Given the description of an element on the screen output the (x, y) to click on. 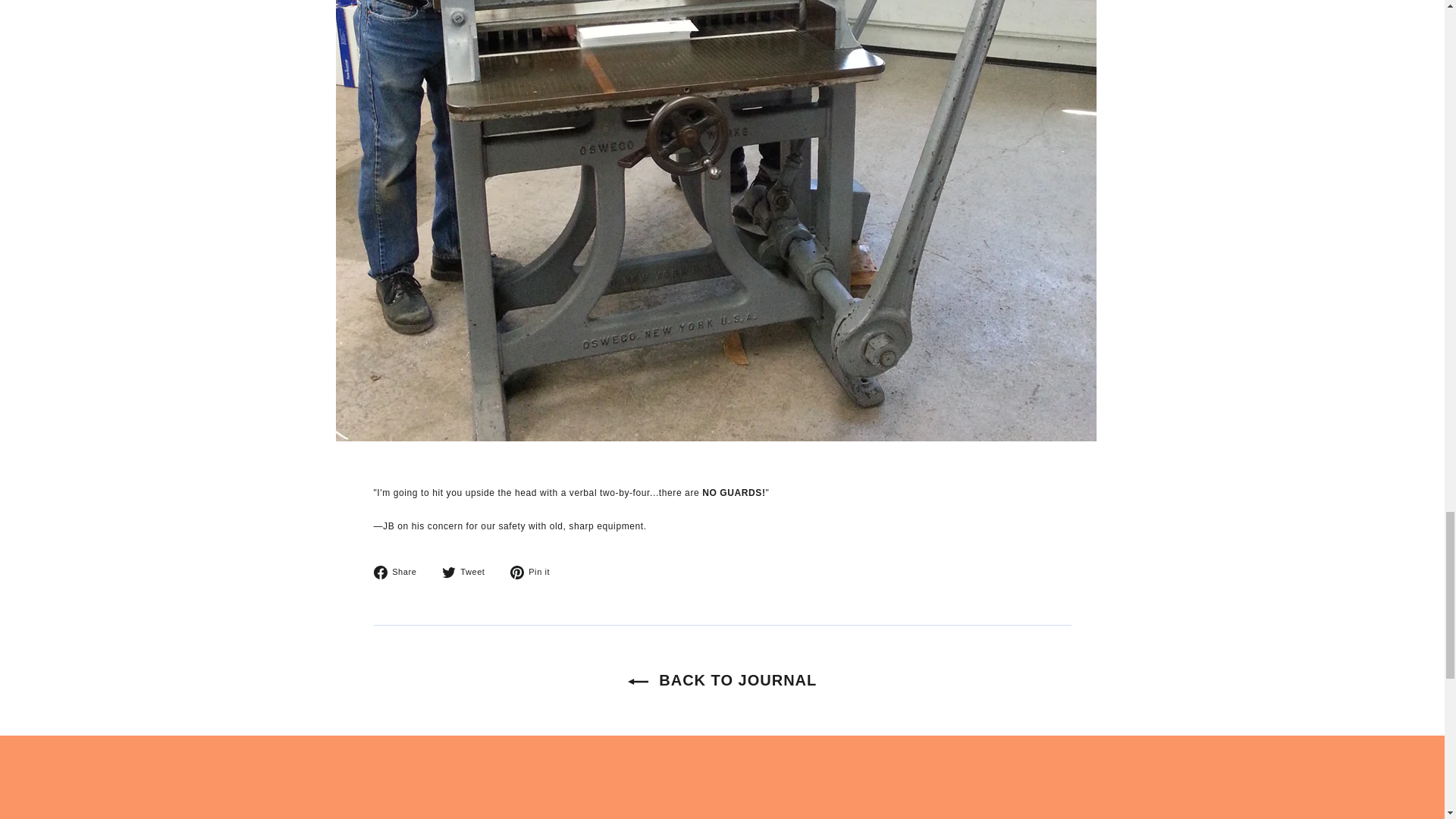
Share on Facebook (400, 572)
Tweet on Twitter (469, 572)
twitter (400, 572)
Pin on Pinterest (536, 572)
ICON-LEFT-ARROW (448, 572)
ICON-LEFT-ARROW BACK TO JOURNAL (536, 572)
